Given the description of an element on the screen output the (x, y) to click on. 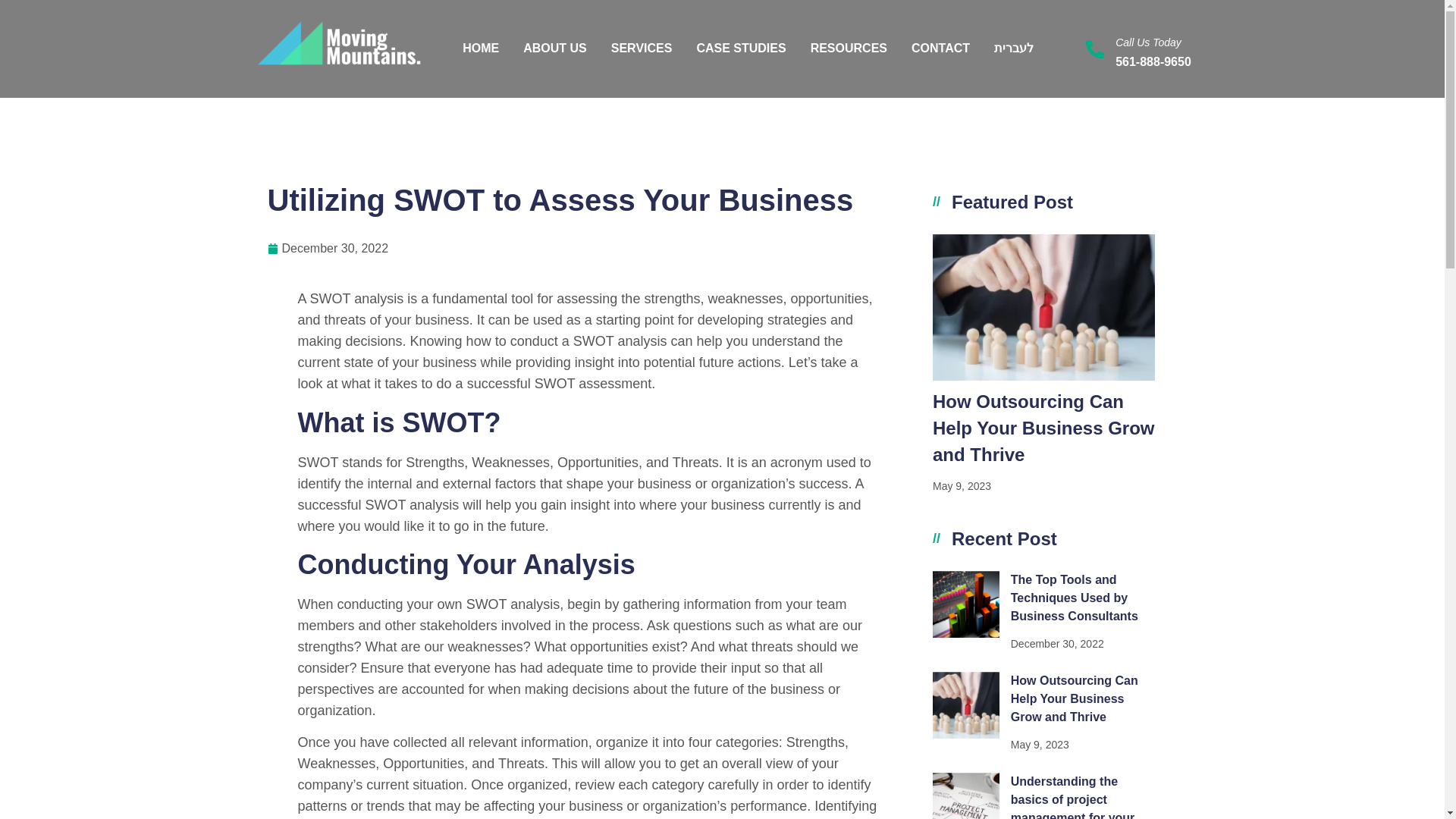
ABOUT US (554, 48)
CASE STUDIES (740, 48)
How Outsourcing Can Help Your Business Grow and Thrive (1043, 428)
HOME (481, 48)
December 30, 2022 (327, 248)
RESOURCES (848, 48)
SERVICES (641, 48)
Call Us Today (1147, 42)
CONTACT (940, 48)
